Given the description of an element on the screen output the (x, y) to click on. 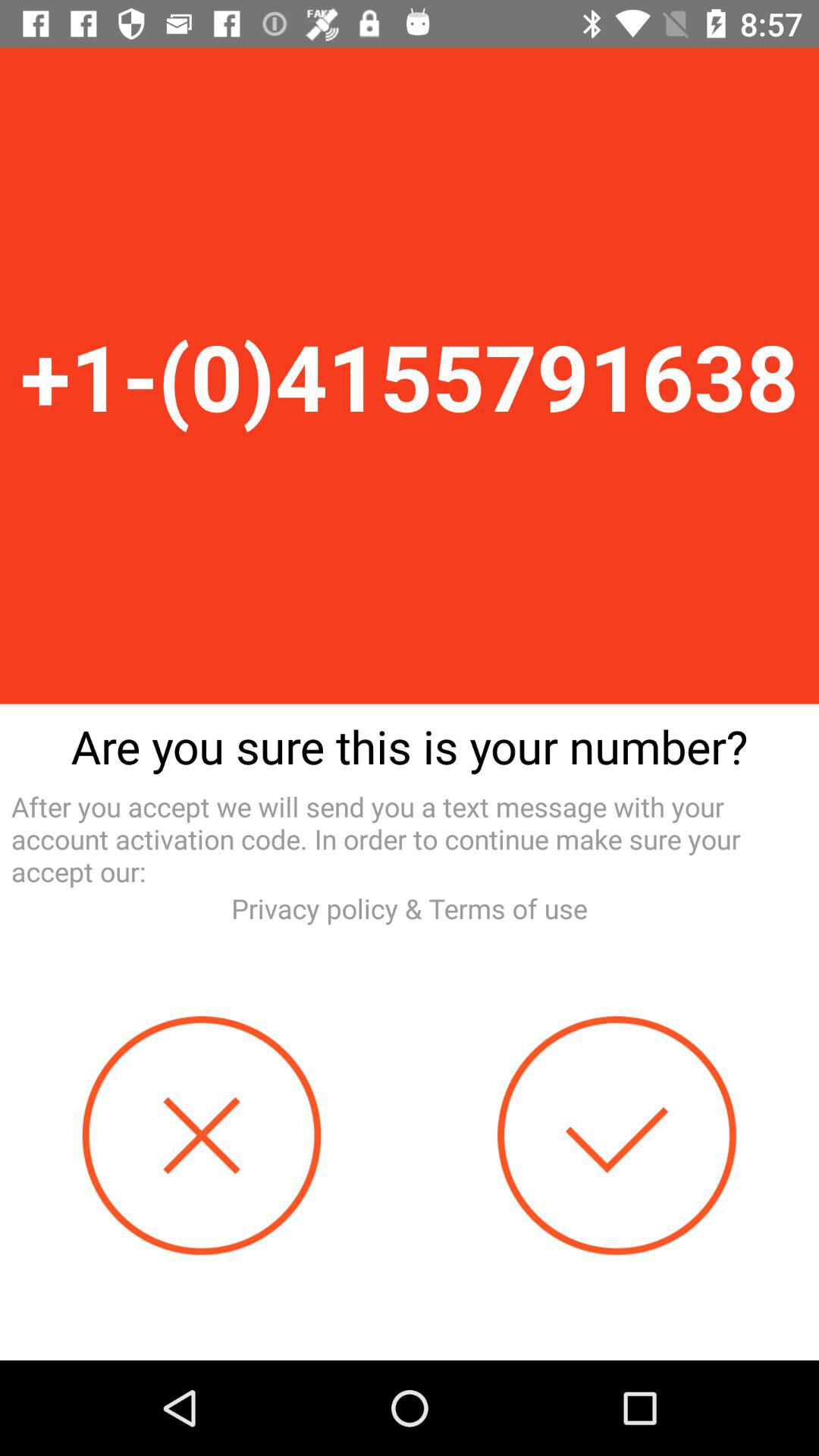
confirm phone number (616, 1135)
